Given the description of an element on the screen output the (x, y) to click on. 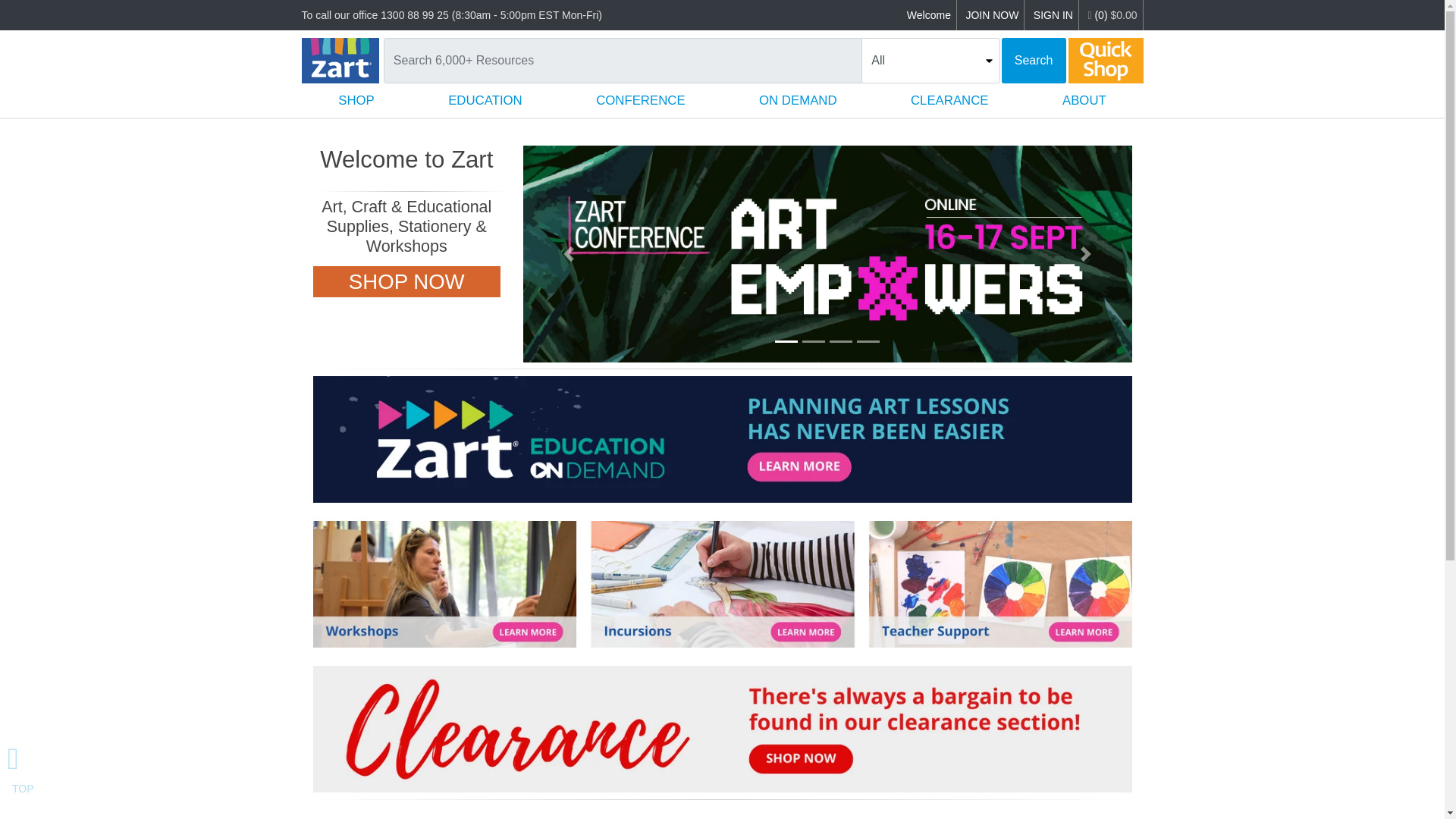
CONFERENCE (640, 100)
SHOP NOW (406, 282)
Welcome (928, 14)
ABOUT (1083, 100)
JOIN NOW (991, 14)
EDUCATION (485, 100)
SIGN IN (1053, 14)
SHOP (355, 100)
CLEARANCE (948, 100)
ON DEMAND (797, 100)
